Given the description of an element on the screen output the (x, y) to click on. 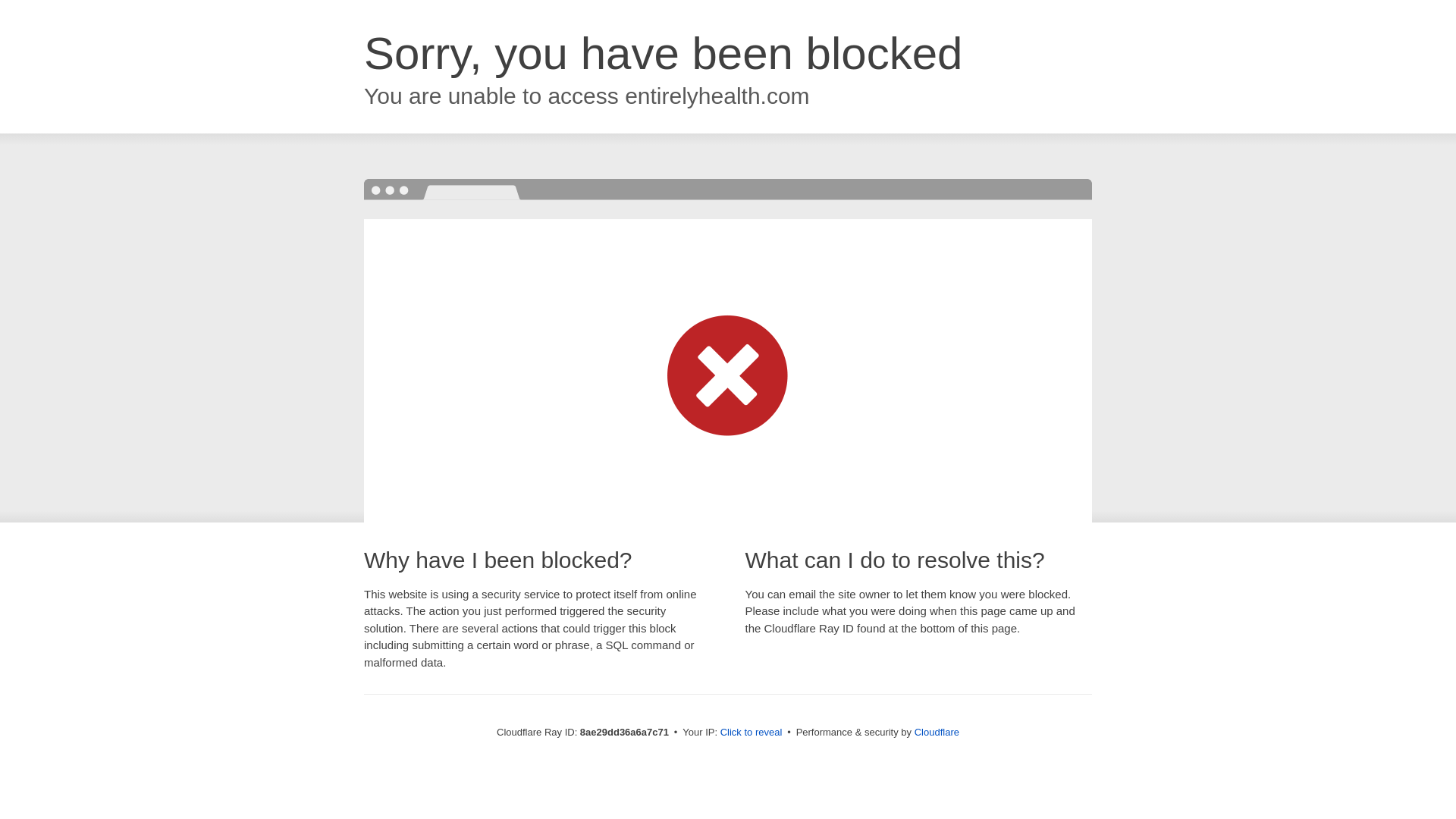
Cloudflare (936, 731)
Click to reveal (751, 732)
